Given the description of an element on the screen output the (x, y) to click on. 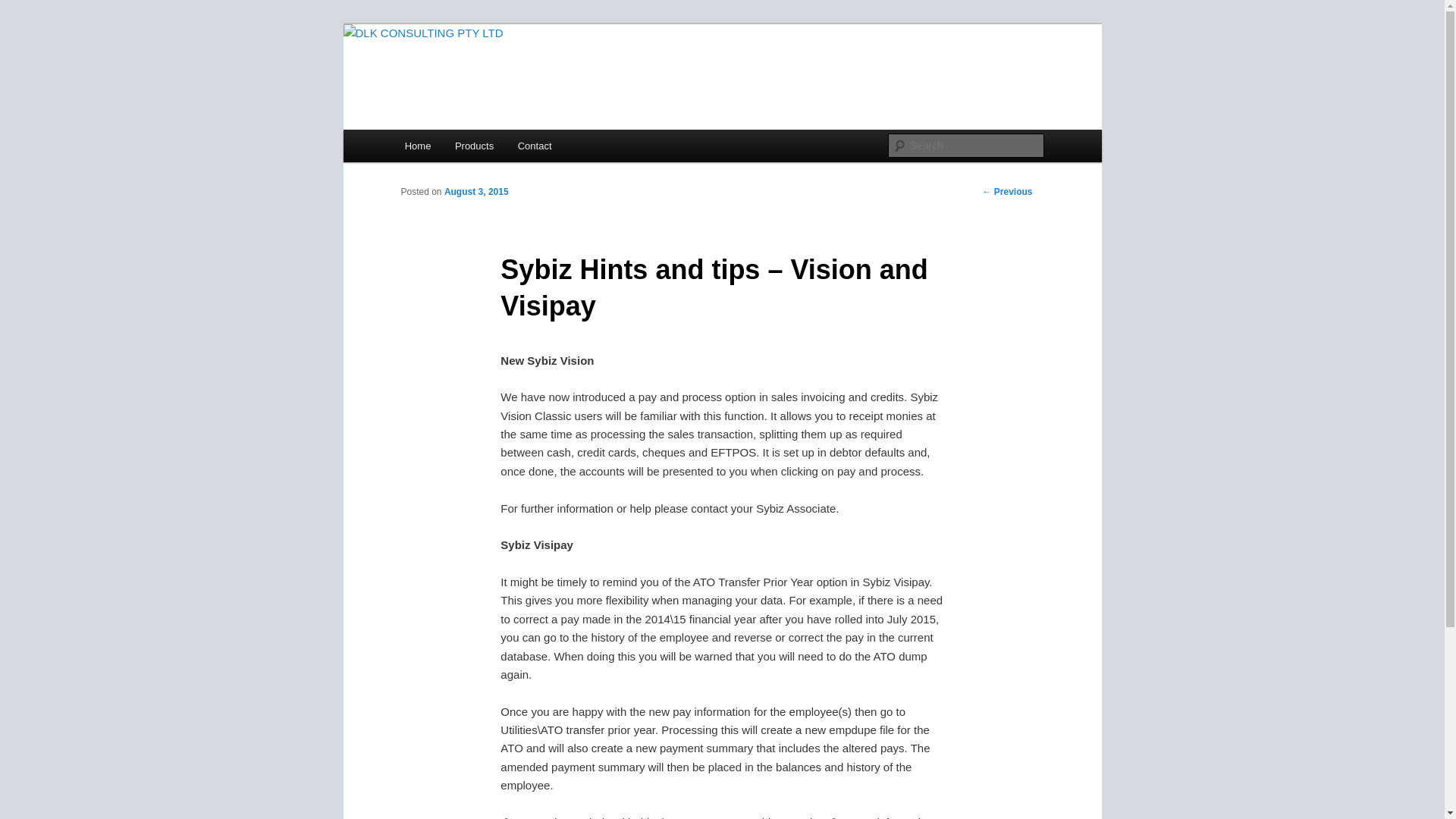
August 3, 2015 Element type: text (476, 191)
Home Element type: text (417, 145)
Skip to primary content Element type: text (22, 22)
DLK CONSULTING PTY LTD Element type: text (550, 78)
Contact Element type: text (534, 145)
Products Element type: text (473, 145)
Search Element type: text (24, 8)
